Given the description of an element on the screen output the (x, y) to click on. 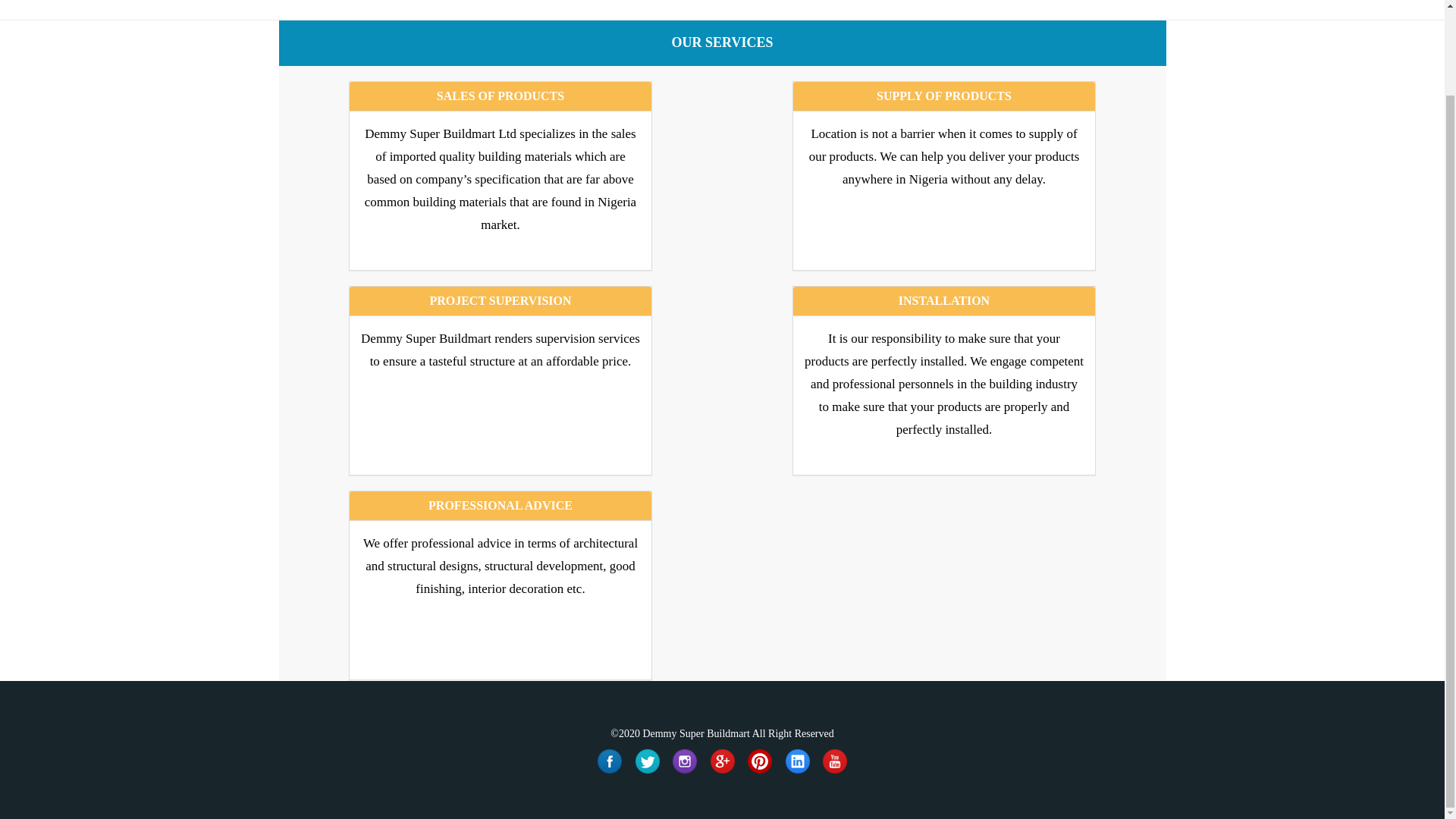
Submit (1256, 682)
